Given the description of an element on the screen output the (x, y) to click on. 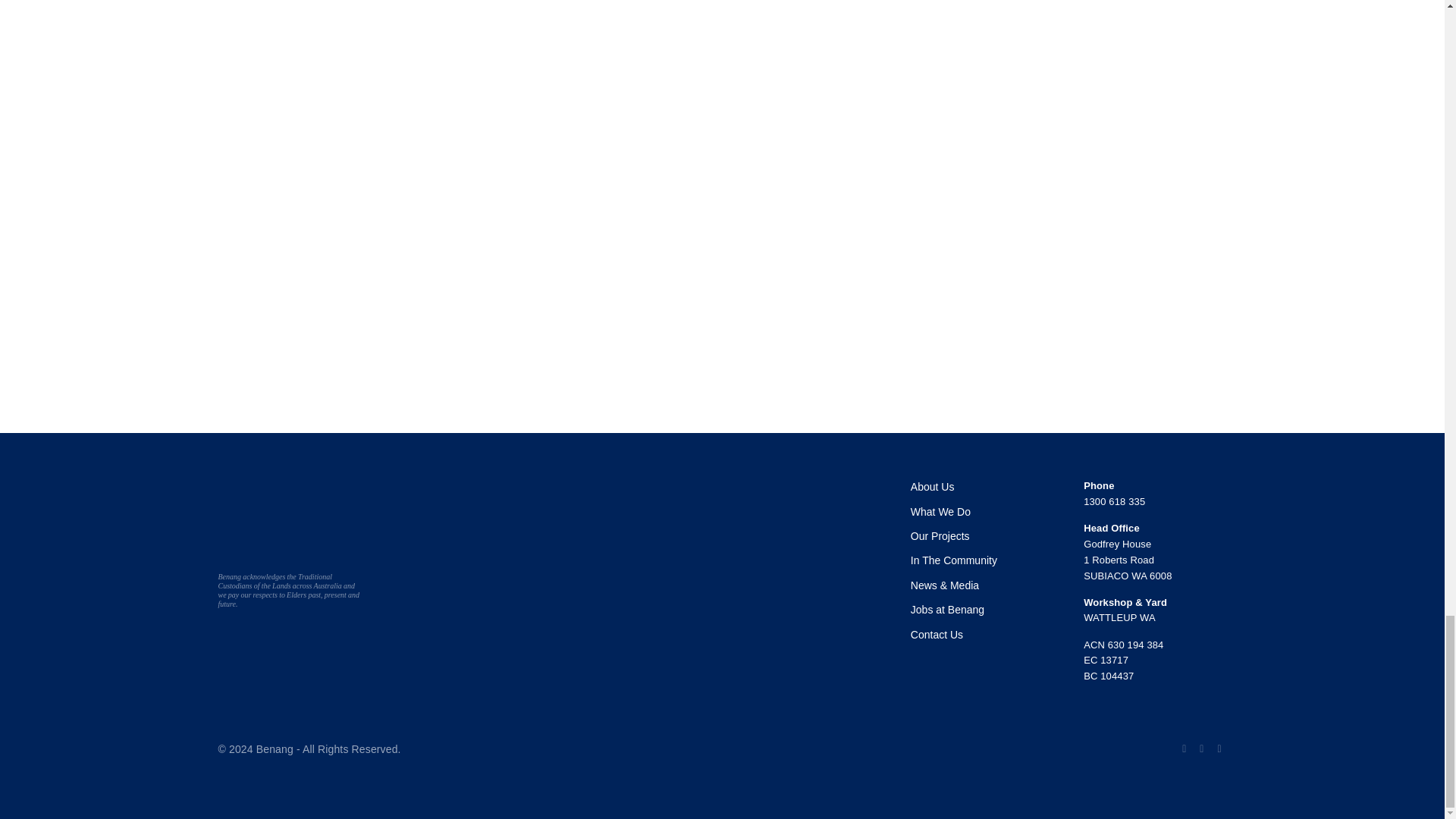
Jobs at Benang (947, 609)
About Us (933, 486)
In The Community (954, 560)
Contact Us (936, 634)
What We Do (941, 511)
Our Projects (940, 535)
